Given the description of an element on the screen output the (x, y) to click on. 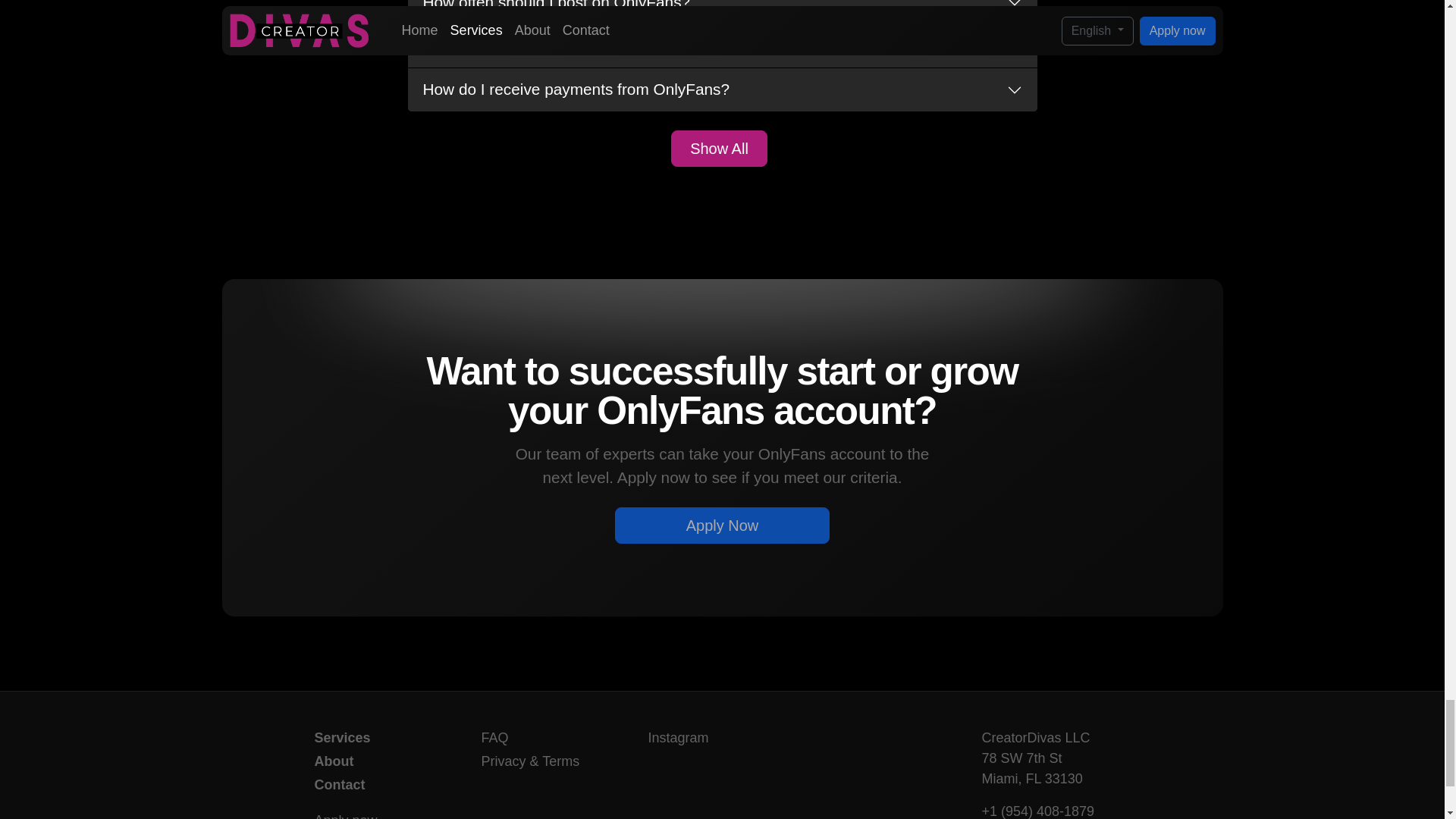
Show All (719, 148)
Apply Now (721, 524)
Contact (388, 784)
Services (388, 738)
How often should I post on OnlyFans? (721, 12)
About (388, 761)
How do I promote my OnlyFans account? (721, 45)
FAQ (554, 738)
Apply now (388, 814)
How do I receive payments from OnlyFans? (721, 89)
